Given the description of an element on the screen output the (x, y) to click on. 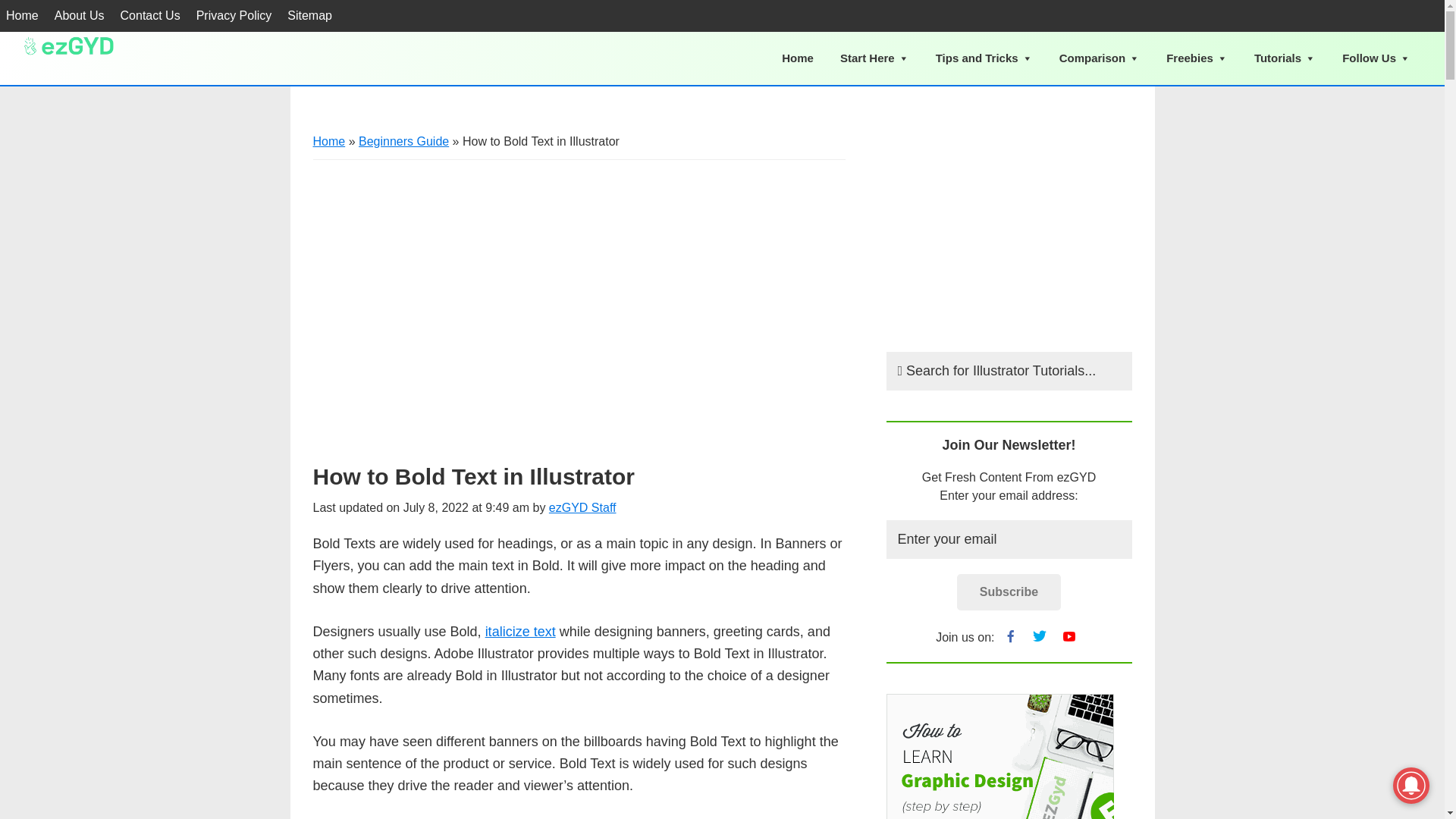
Freebies (1196, 58)
About Us (79, 15)
Home (797, 57)
Subscribe (1008, 592)
Tips and Tricks (983, 58)
Tutorials (1284, 58)
Advertisement (579, 300)
Start Here (874, 58)
ezGYD Staff (581, 507)
Privacy Policy (234, 15)
Advertisement (1008, 226)
Home (329, 141)
Home (22, 15)
Beginners Guide (403, 141)
